Given the description of an element on the screen output the (x, y) to click on. 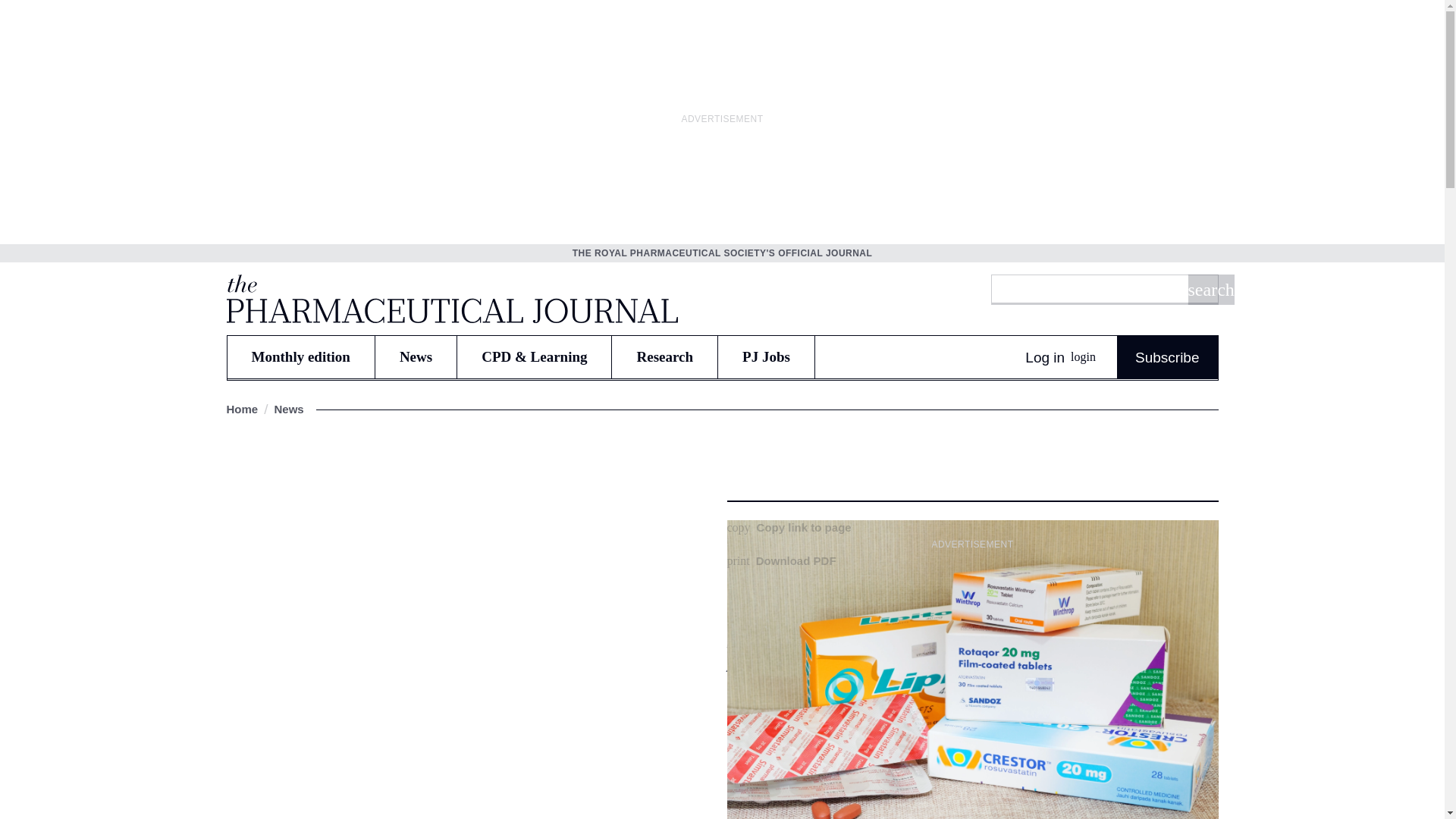
The Pharmaceutical Journal (451, 298)
Monthly edition (300, 356)
Search (1210, 289)
3rd party ad content (972, 651)
News (416, 356)
